Given the description of an element on the screen output the (x, y) to click on. 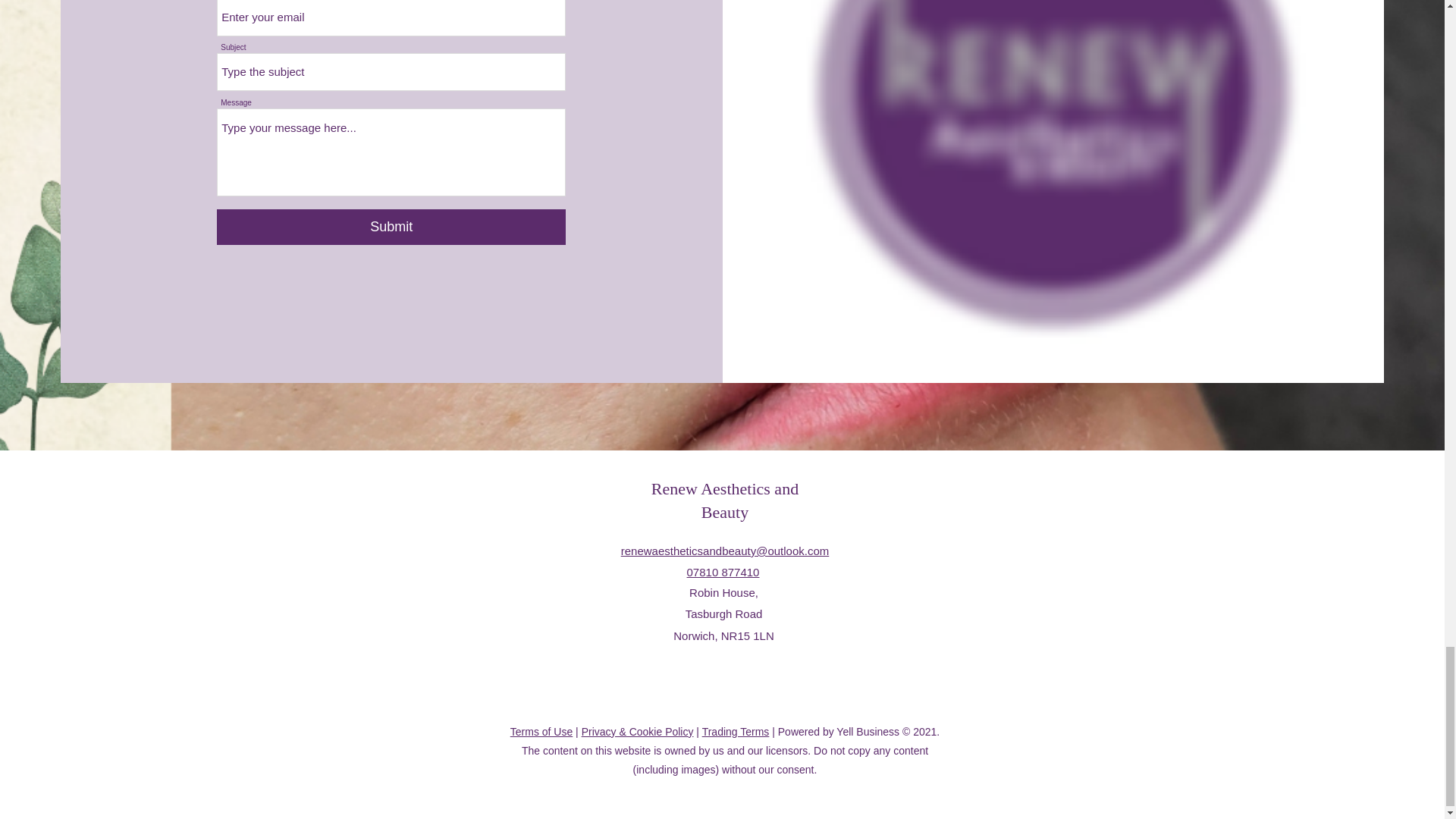
Terms of Use (541, 731)
Submit (1039, 339)
Trading Terms (735, 731)
07810 877410 (723, 571)
Renew Aesthetics and Beauty (723, 500)
Submit (391, 226)
